Given the description of an element on the screen output the (x, y) to click on. 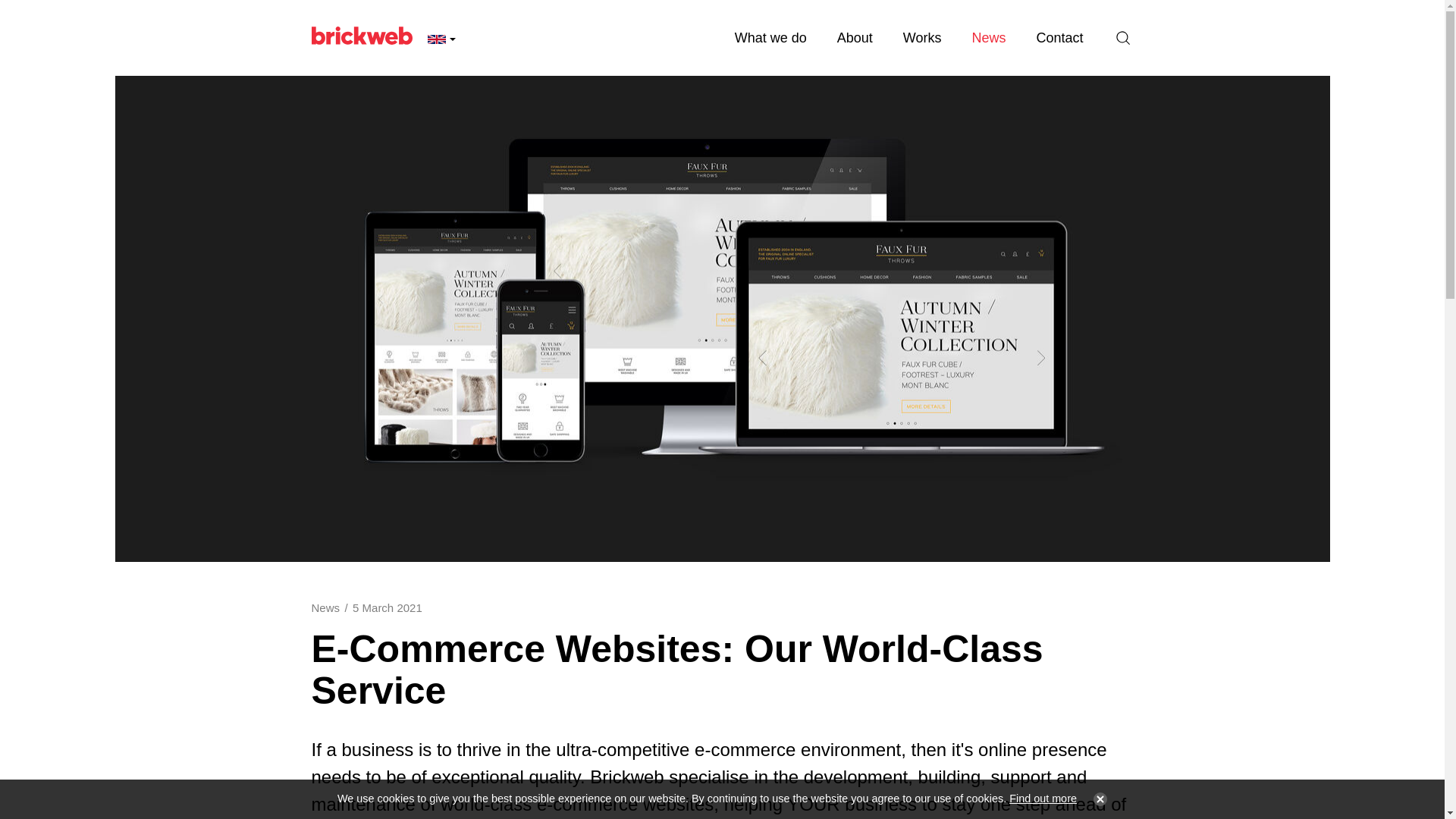
What we do (770, 37)
News (325, 607)
Works (922, 37)
News (988, 37)
Contact (1058, 37)
5 March 2021 (387, 607)
About (855, 37)
Latest News. Check out the latest news Brick technology (988, 37)
